Given the description of an element on the screen output the (x, y) to click on. 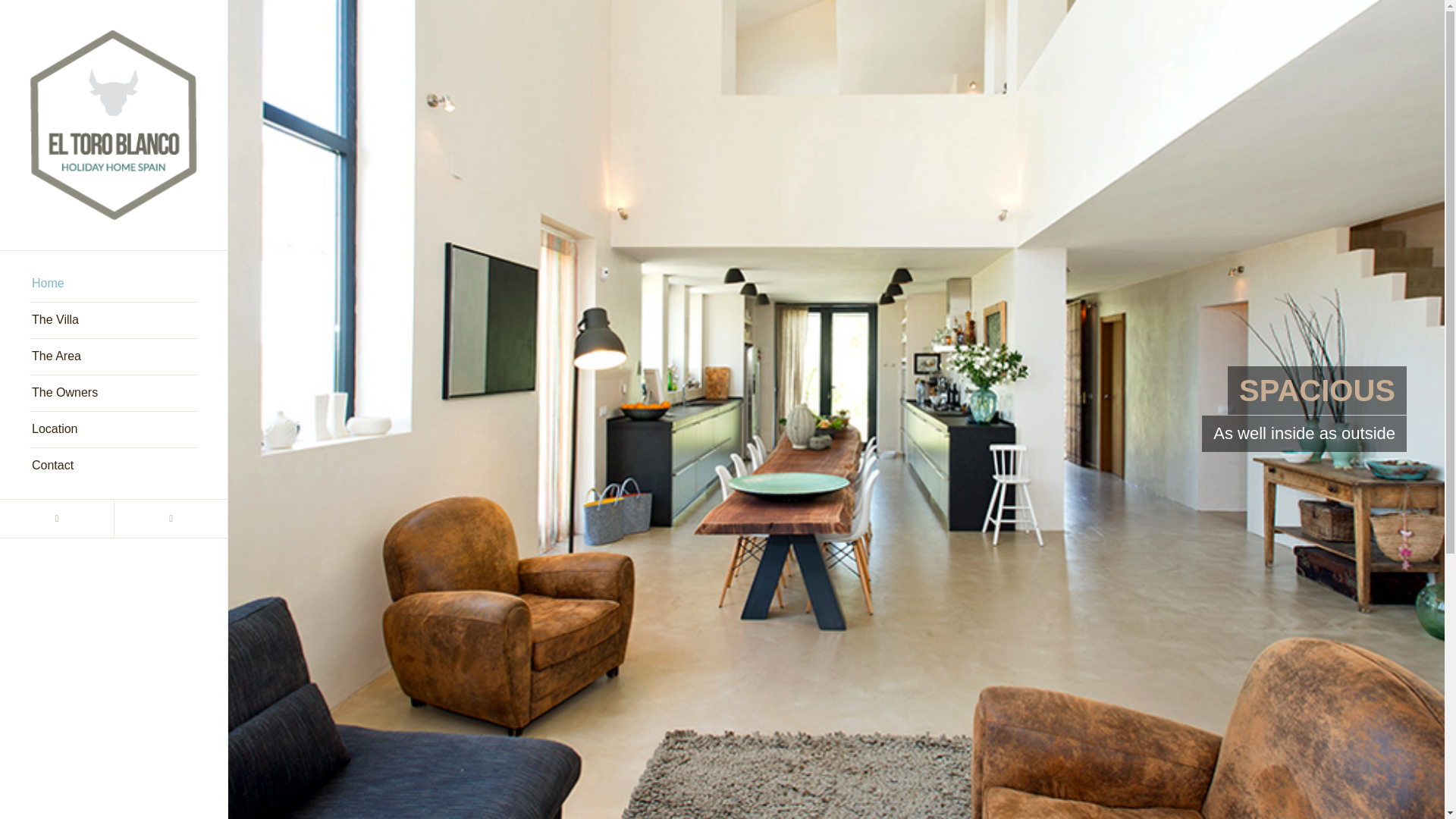
Contact (113, 465)
Home (113, 284)
Location (113, 429)
The Villa (113, 320)
The Area (113, 357)
Pinterest (56, 518)
The Owners (113, 393)
Facebook (170, 518)
